Given the description of an element on the screen output the (x, y) to click on. 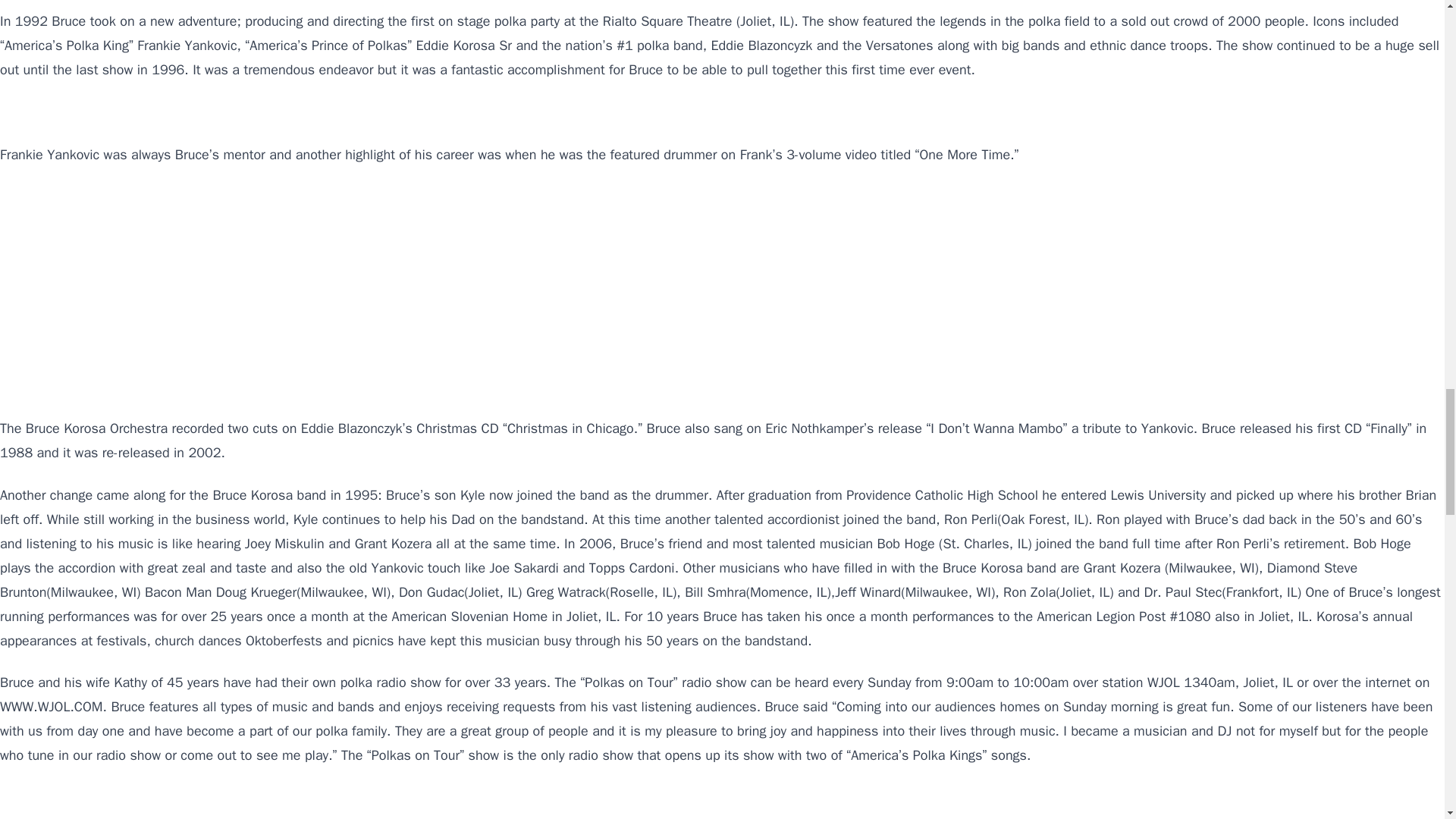
Frank Yankovic: America's Polka King (189, 802)
